Given the description of an element on the screen output the (x, y) to click on. 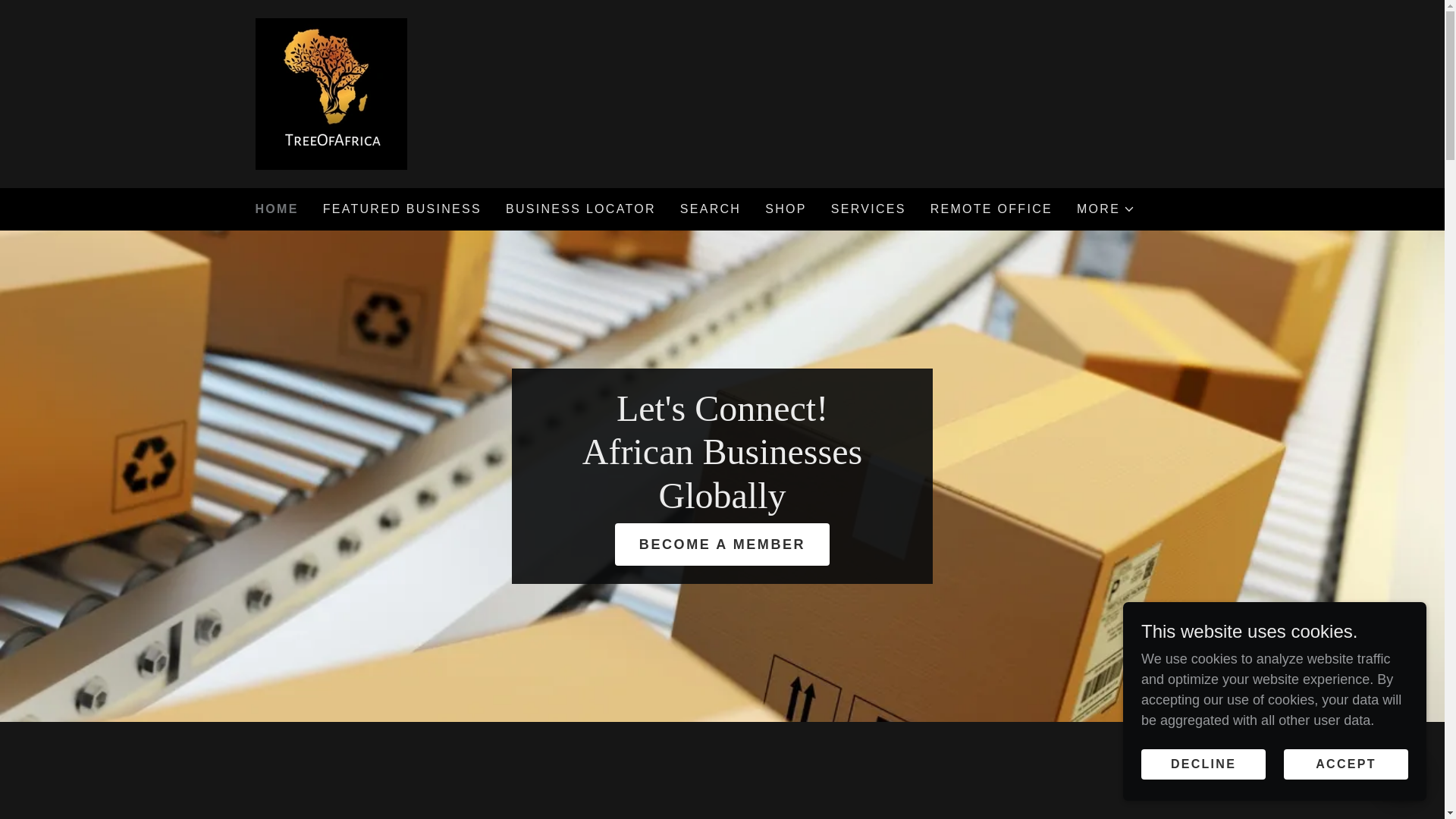
REMOTE OFFICE (991, 208)
SEARCH (710, 208)
SERVICES (869, 208)
Working together to help bridge the divide  (330, 92)
FEATURED BUSINESS (402, 208)
BUSINESS LOCATOR (580, 208)
HOME (276, 208)
SHOP (785, 208)
MORE (1106, 208)
